Given the description of an element on the screen output the (x, y) to click on. 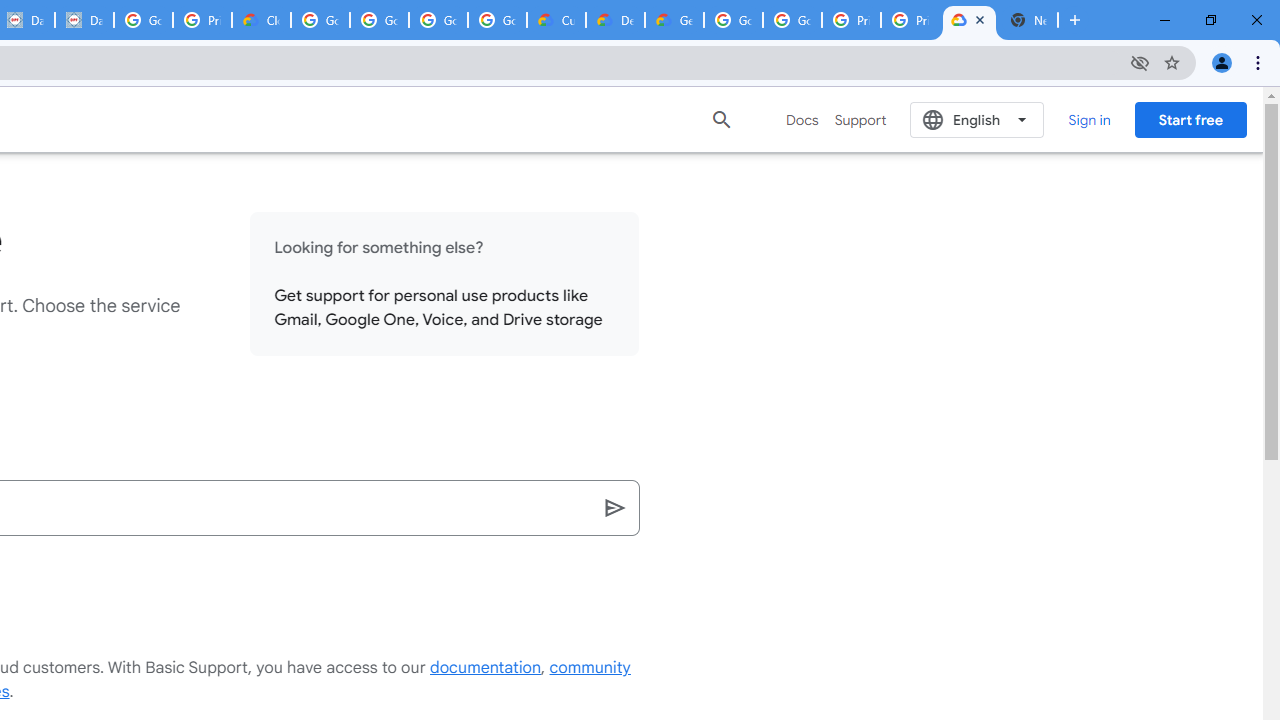
Google Cloud Platform (733, 20)
Google Workspace - Specific Terms (438, 20)
Gemini for Business and Developers | Google Cloud (674, 20)
